Given the description of an element on the screen output the (x, y) to click on. 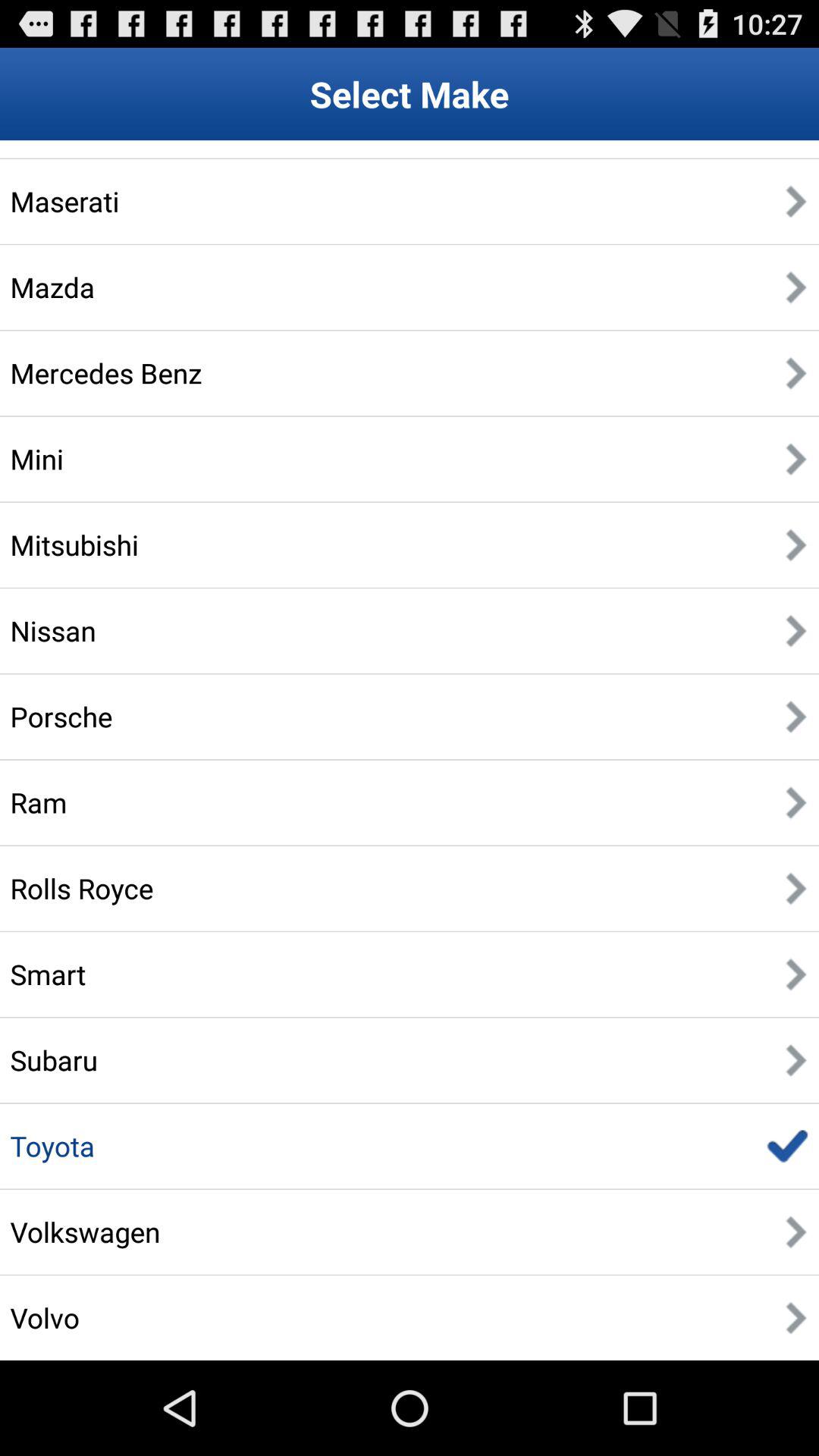
tap the app below the toyota (85, 1231)
